Given the description of an element on the screen output the (x, y) to click on. 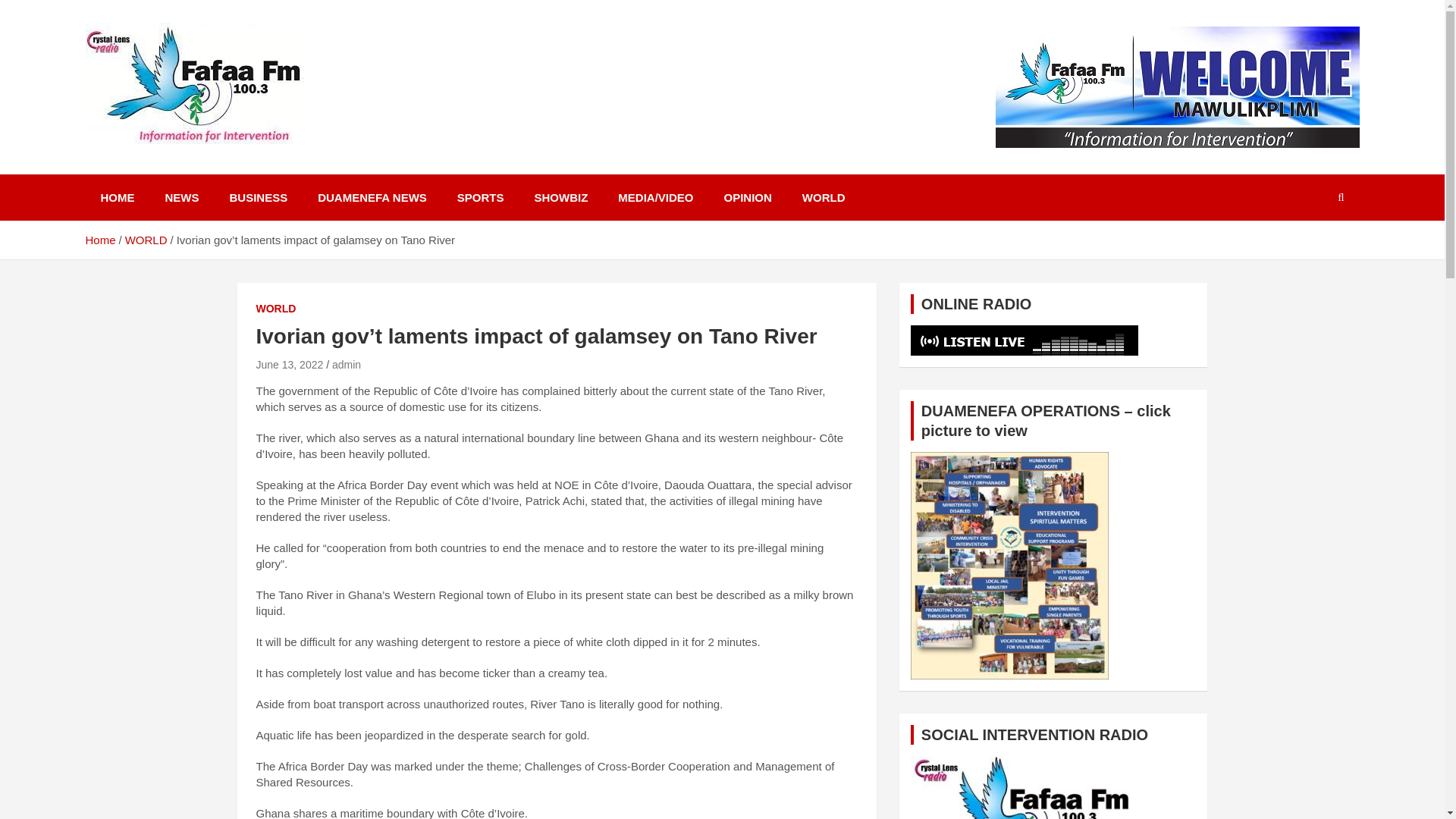
SPORTS (480, 197)
OPINION (748, 197)
HOME (116, 197)
Fafaa Fm (151, 171)
WORLD (146, 239)
June 13, 2022 (289, 364)
BUSINESS (258, 197)
DUAMENEFA NEWS (372, 197)
WORLD (823, 197)
NEWS (181, 197)
Home (99, 239)
SHOWBIZ (560, 197)
admin (346, 364)
WORLD (276, 309)
